Given the description of an element on the screen output the (x, y) to click on. 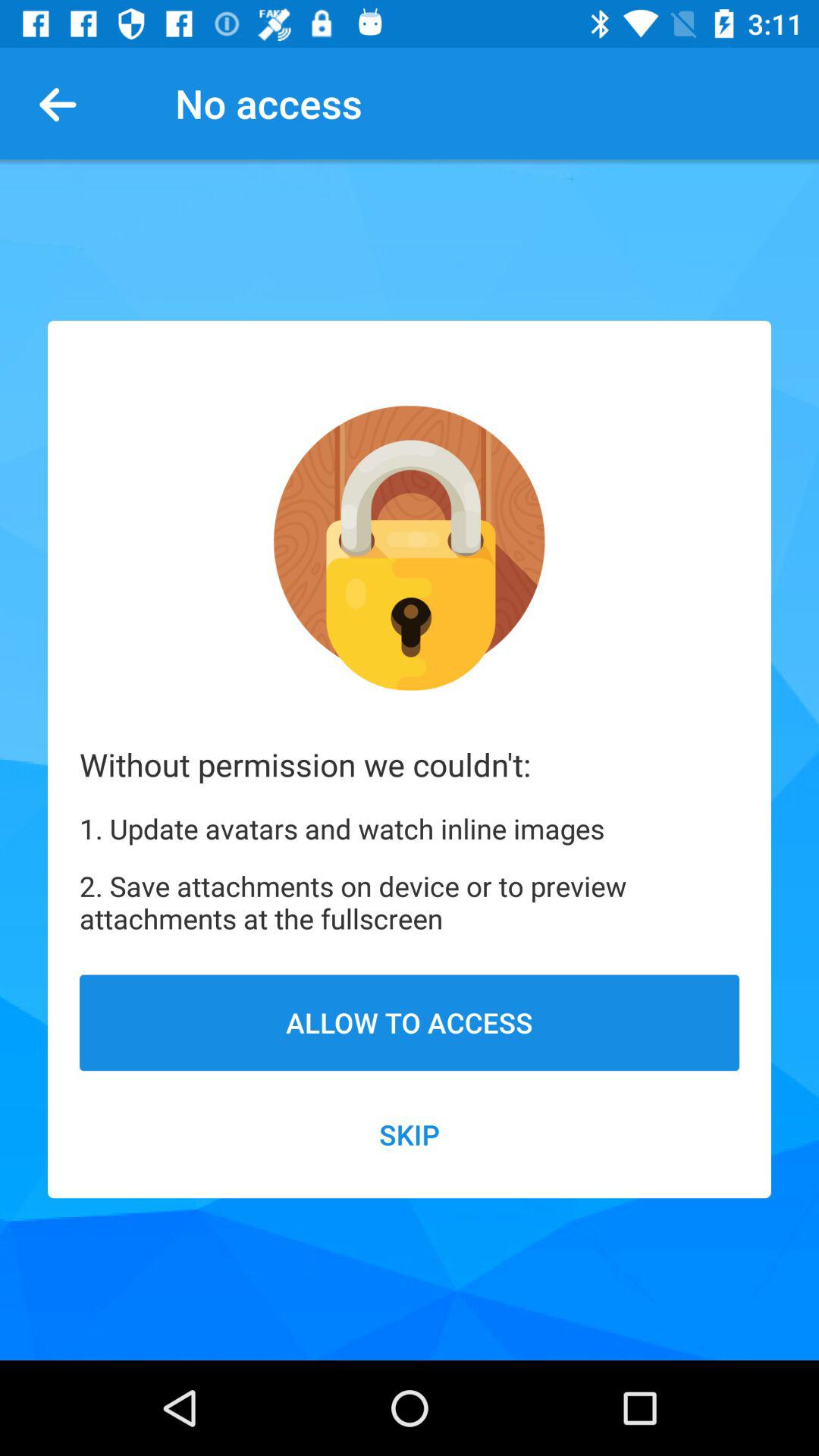
swipe to allow to access (409, 1022)
